Given the description of an element on the screen output the (x, y) to click on. 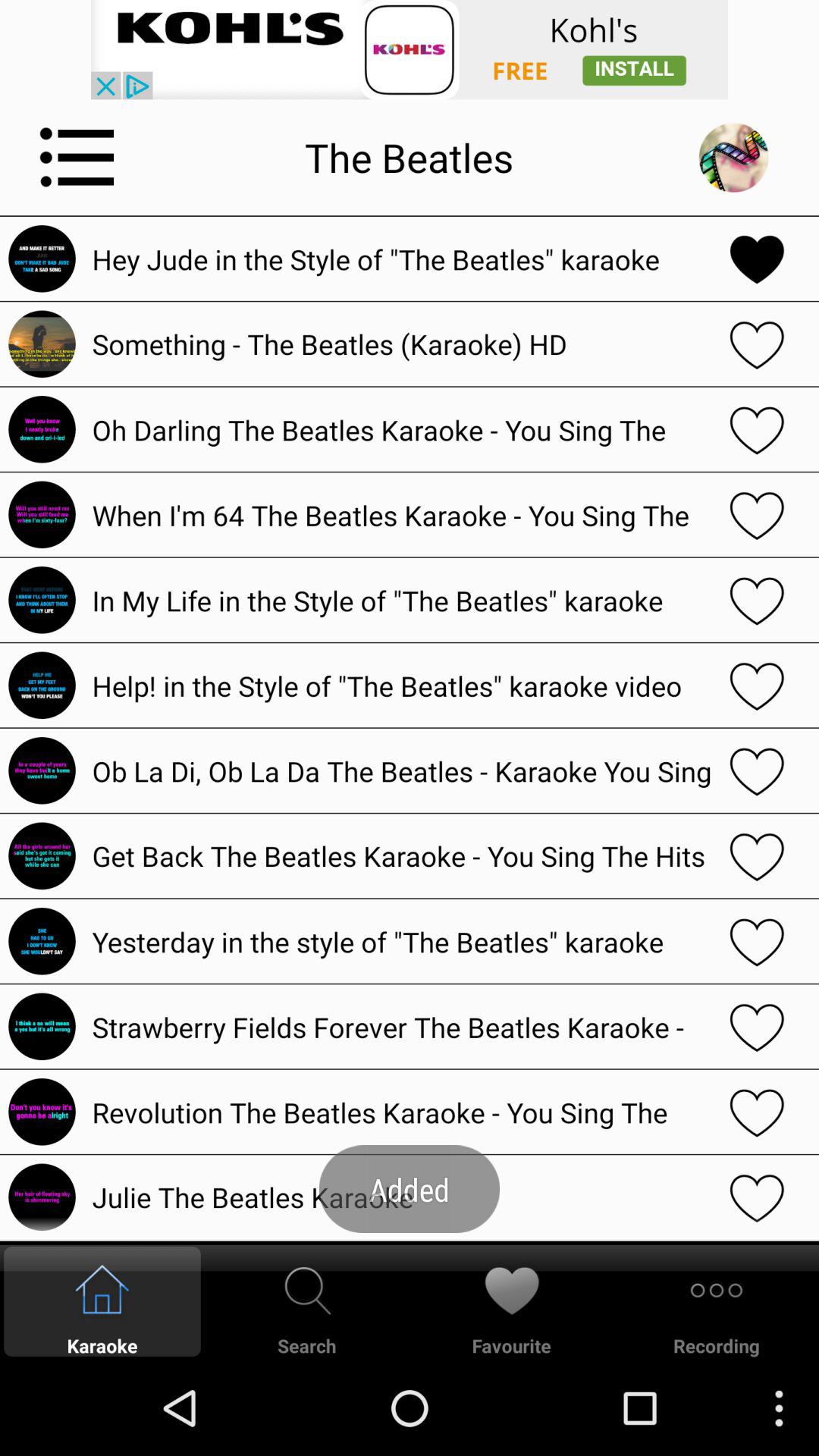
add to favorites (756, 429)
